Given the description of an element on the screen output the (x, y) to click on. 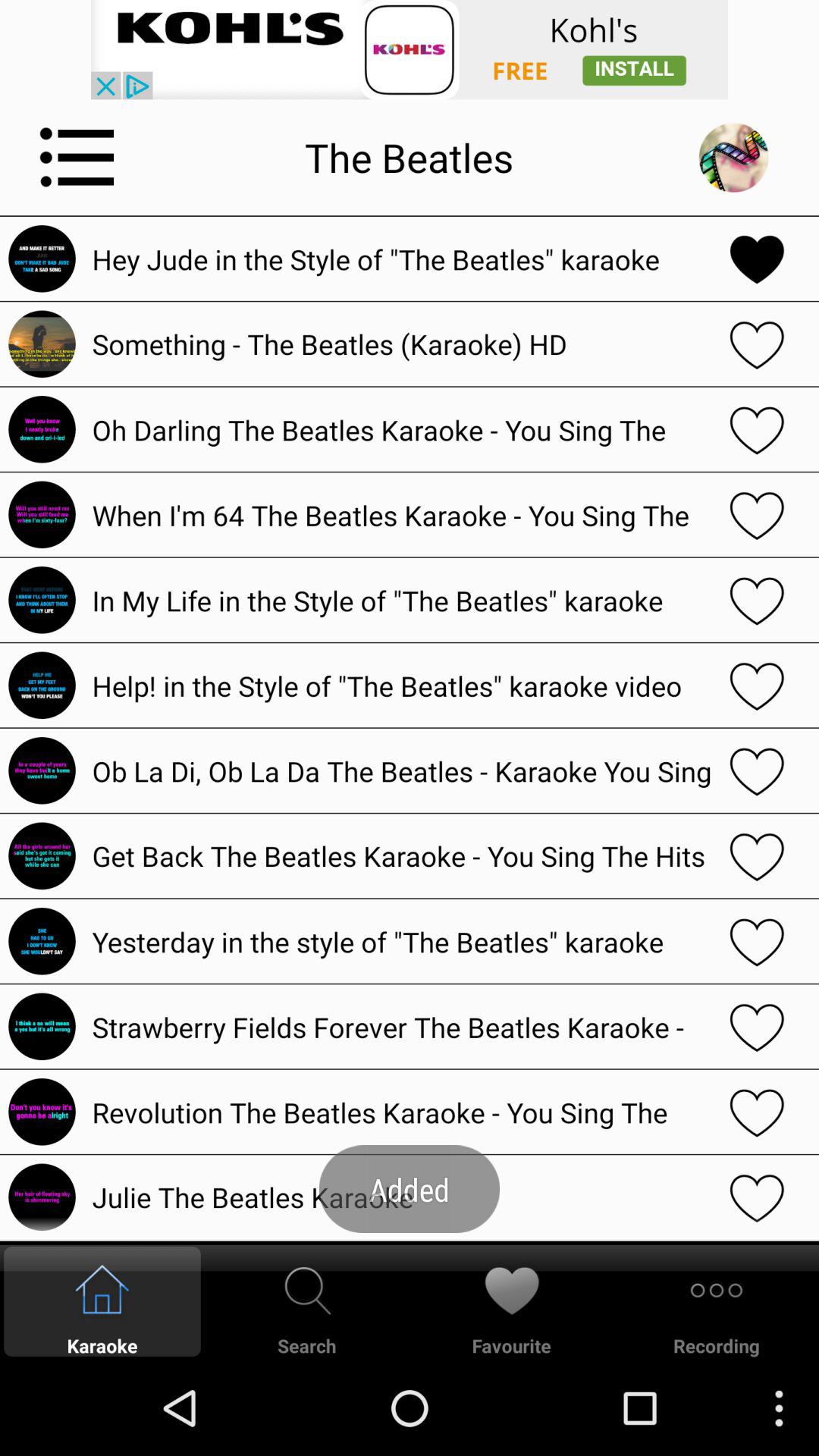
add to favorites (756, 429)
